Given the description of an element on the screen output the (x, y) to click on. 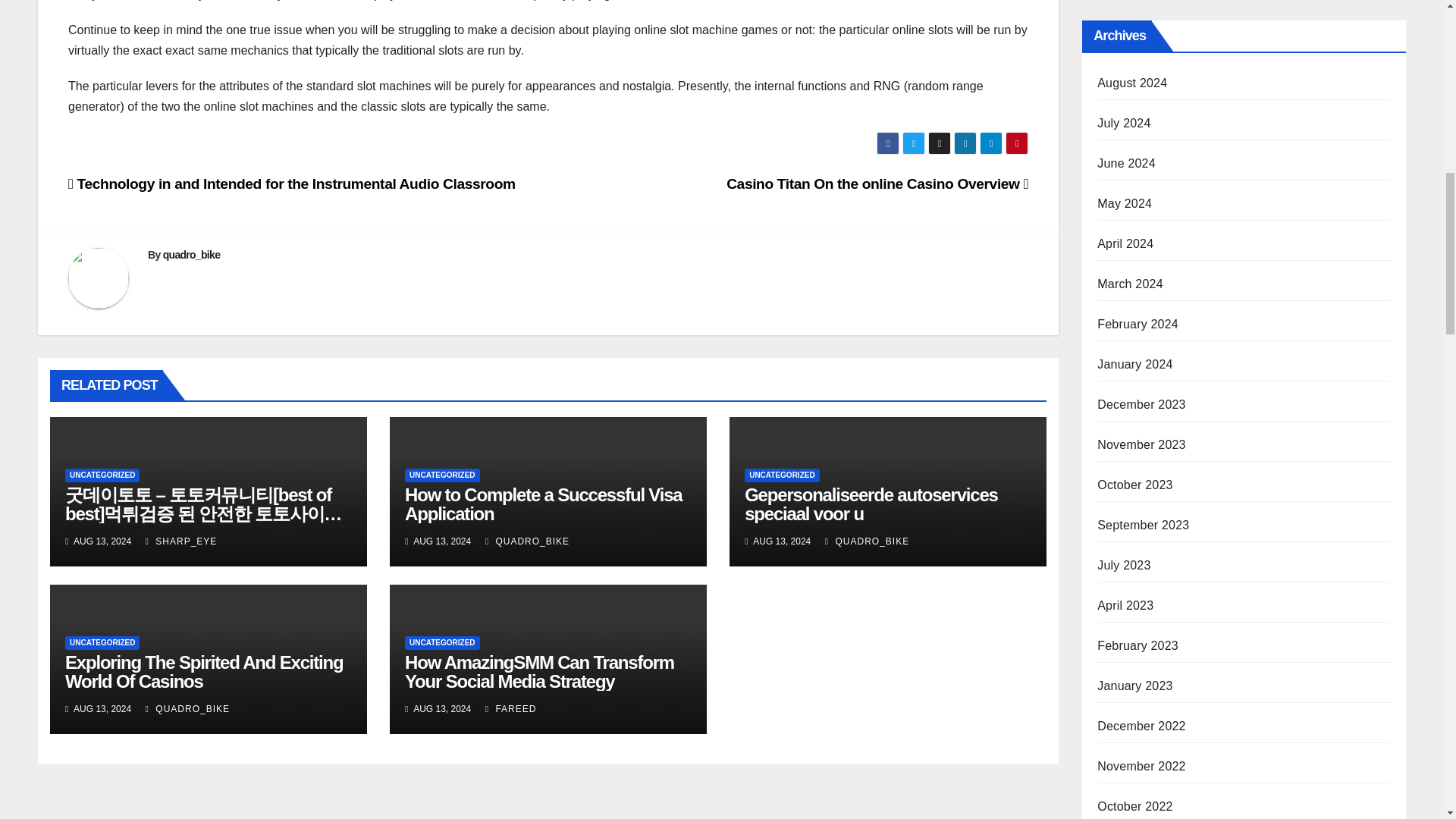
Casino Titan On the online Casino Overview (876, 183)
UNCATEGORIZED (102, 643)
How to Complete a Successful Visa Application (542, 504)
UNCATEGORIZED (781, 475)
Permalink to: How to Complete a Successful Visa Application (542, 504)
Exploring The Spirited And Exciting World Of Casinos (203, 671)
Gepersonaliseerde autoservices speciaal voor u (870, 504)
UNCATEGORIZED (441, 643)
